Given the description of an element on the screen output the (x, y) to click on. 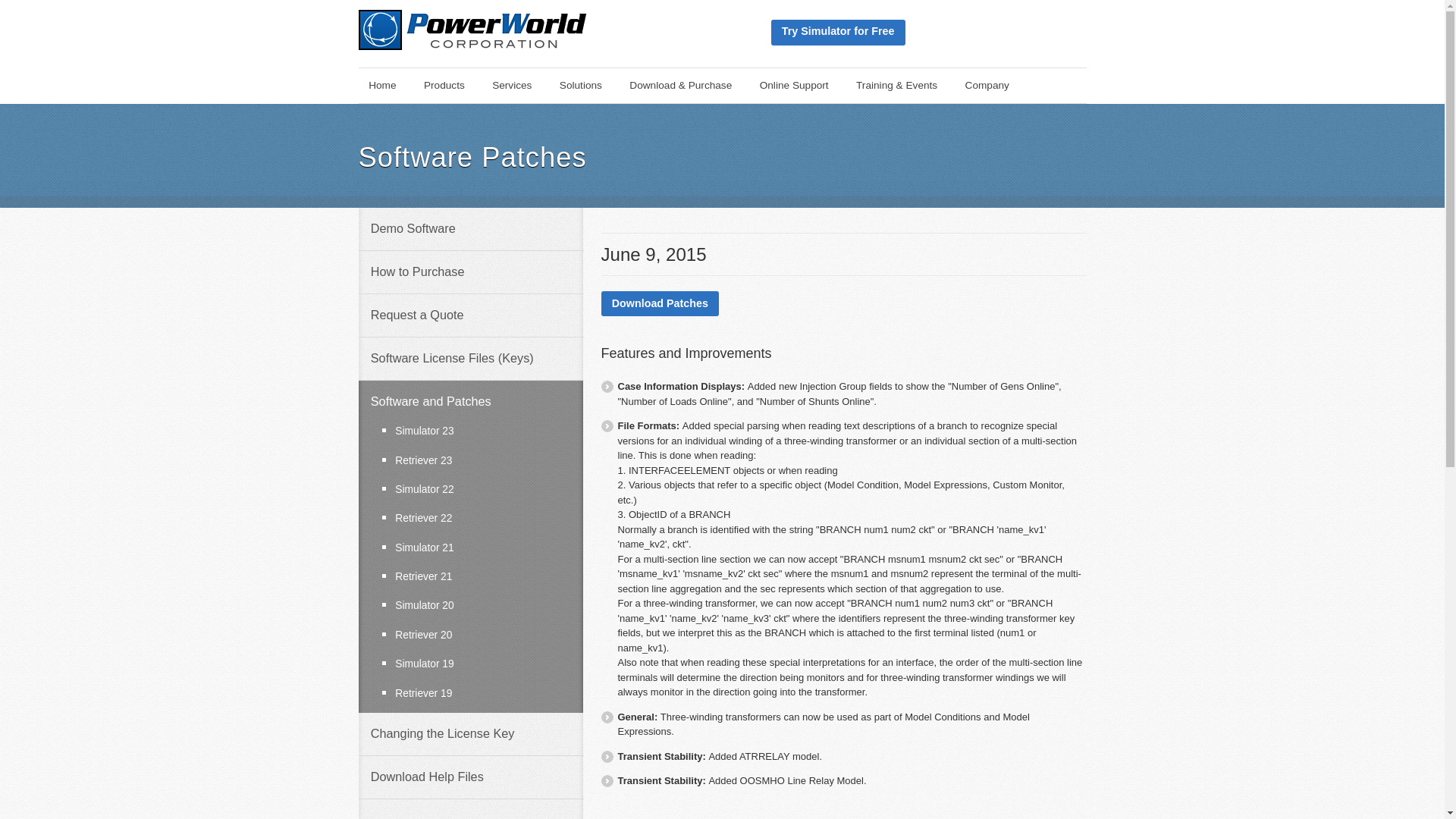
Services (511, 84)
Home (382, 84)
Try Simulator for Free (837, 32)
Products (443, 84)
Skip to main content (368, 78)
Skip to main content (368, 78)
Online Support (793, 84)
Solutions (579, 84)
